Given the description of an element on the screen output the (x, y) to click on. 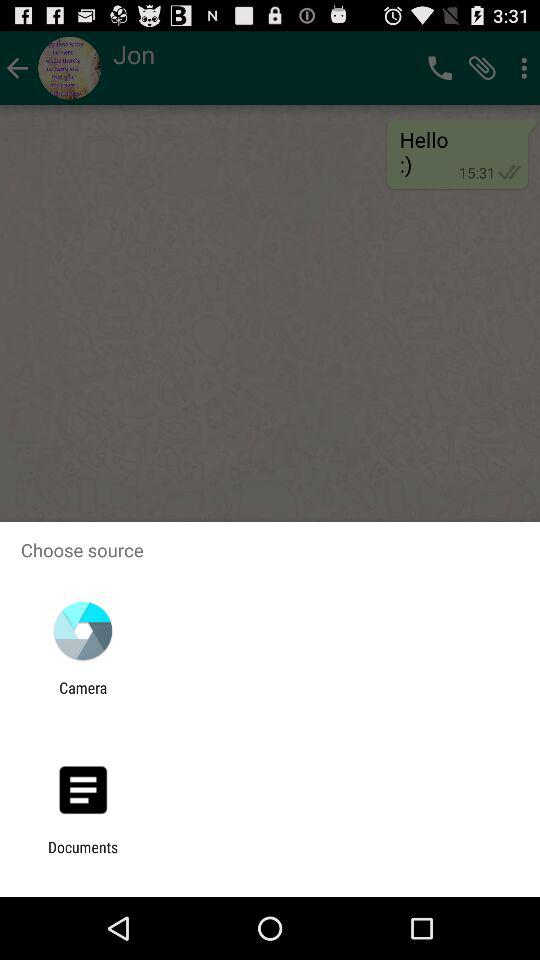
flip to documents (83, 856)
